Given the description of an element on the screen output the (x, y) to click on. 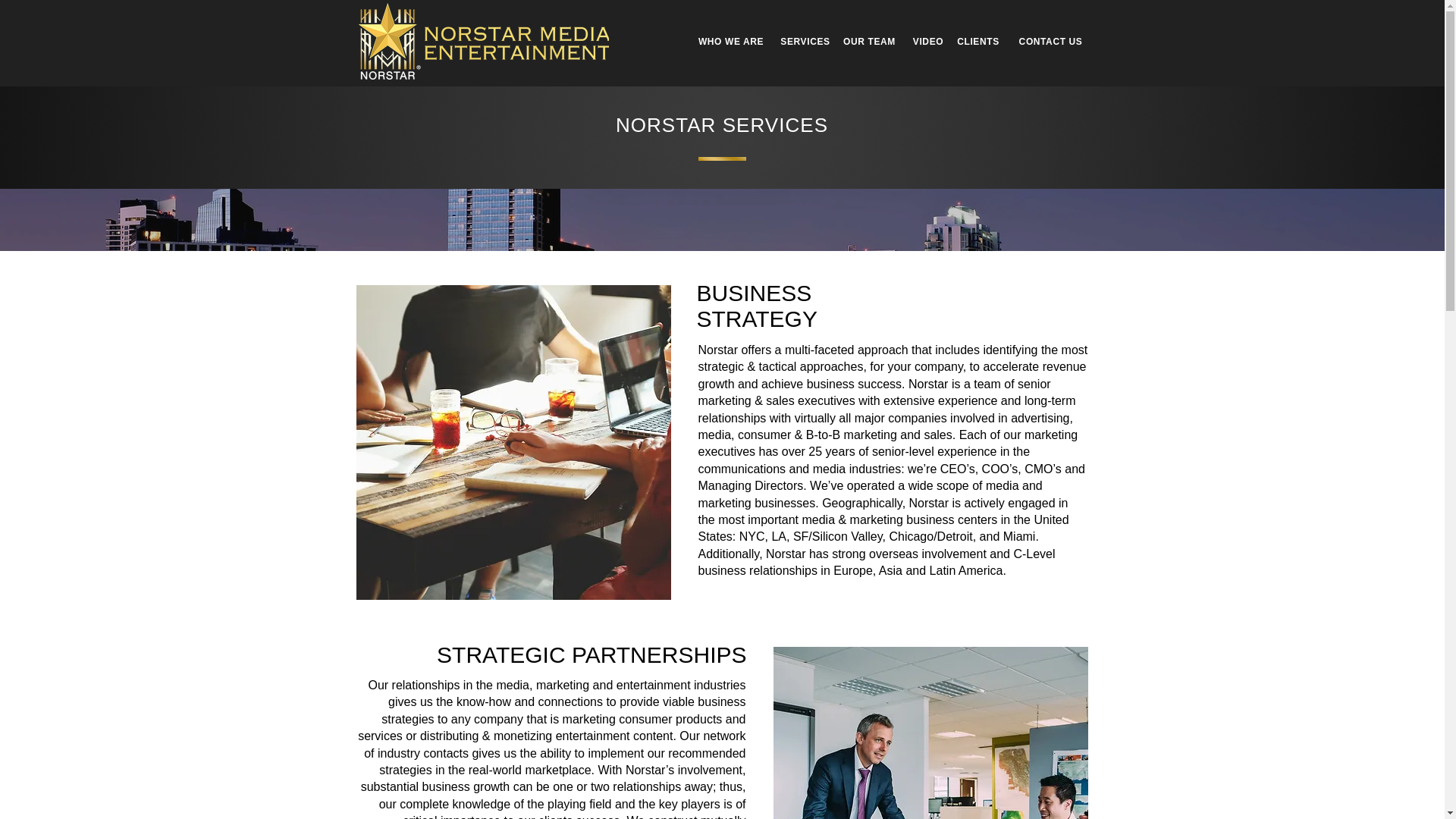
CONTACT US (1051, 41)
WHO WE ARE (730, 41)
CLIENTS (977, 41)
OUR TEAM (869, 41)
SERVICES (804, 41)
VIDEO (927, 41)
